Given the description of an element on the screen output the (x, y) to click on. 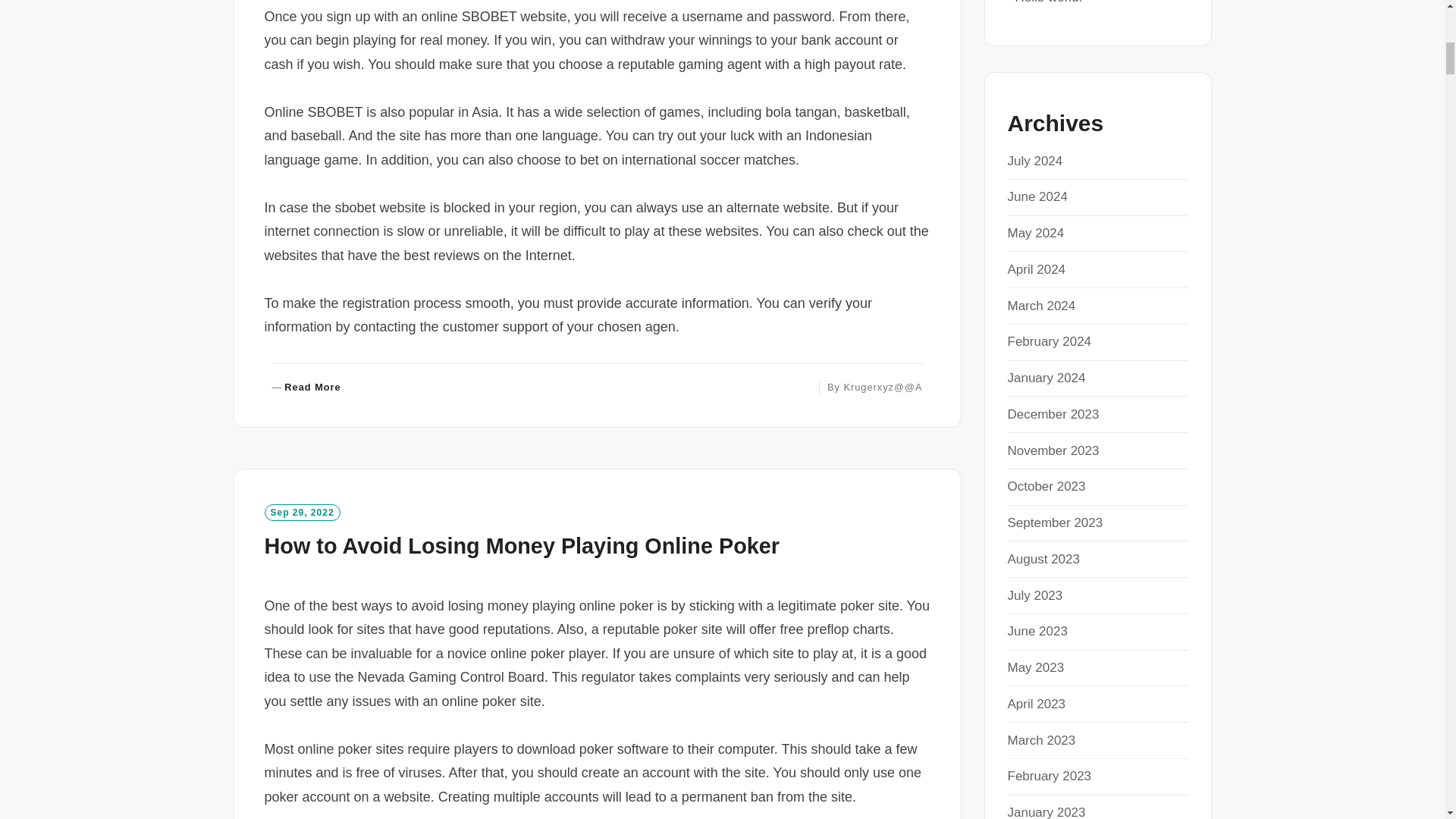
Sep 29, 2022 (305, 387)
How to Avoid Losing Money Playing Online Poker (301, 512)
